Given the description of an element on the screen output the (x, y) to click on. 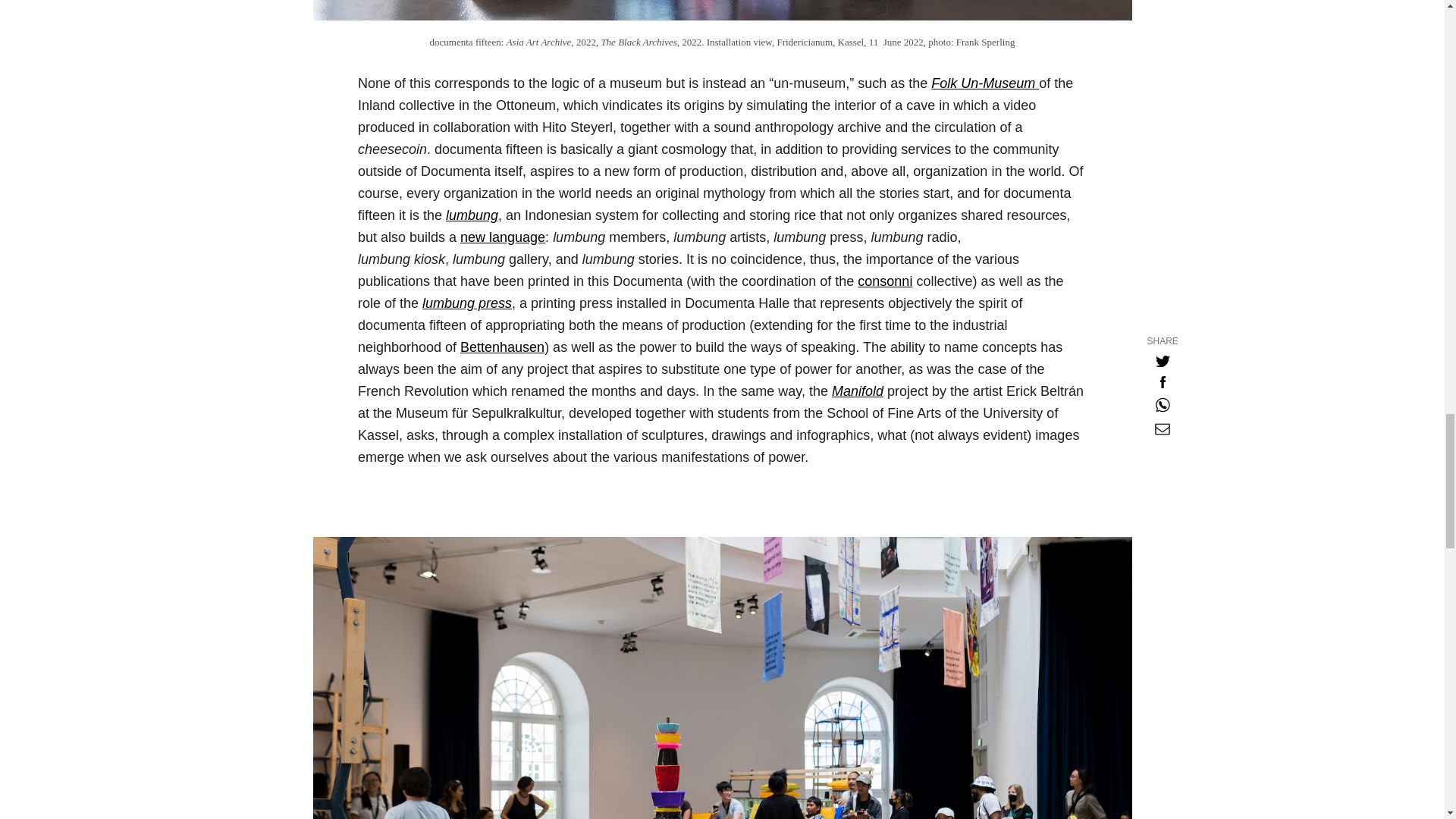
Folk Un-Museum (985, 83)
lumbung (471, 215)
new language (502, 237)
